Given the description of an element on the screen output the (x, y) to click on. 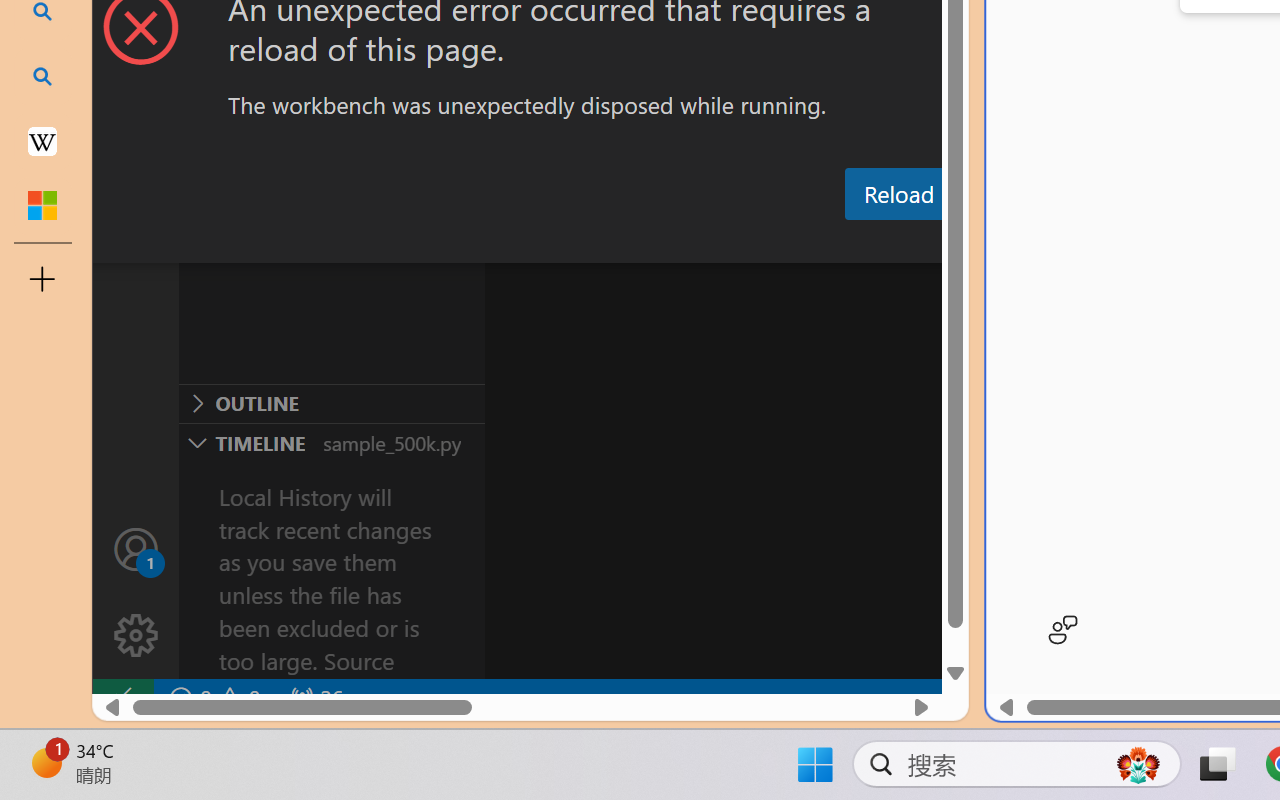
Terminal (Ctrl+`) (1021, 243)
Accounts - Sign in requested (135, 548)
Earth - Wikipedia (42, 140)
Outline Section (331, 403)
Reload (898, 193)
